Given the description of an element on the screen output the (x, y) to click on. 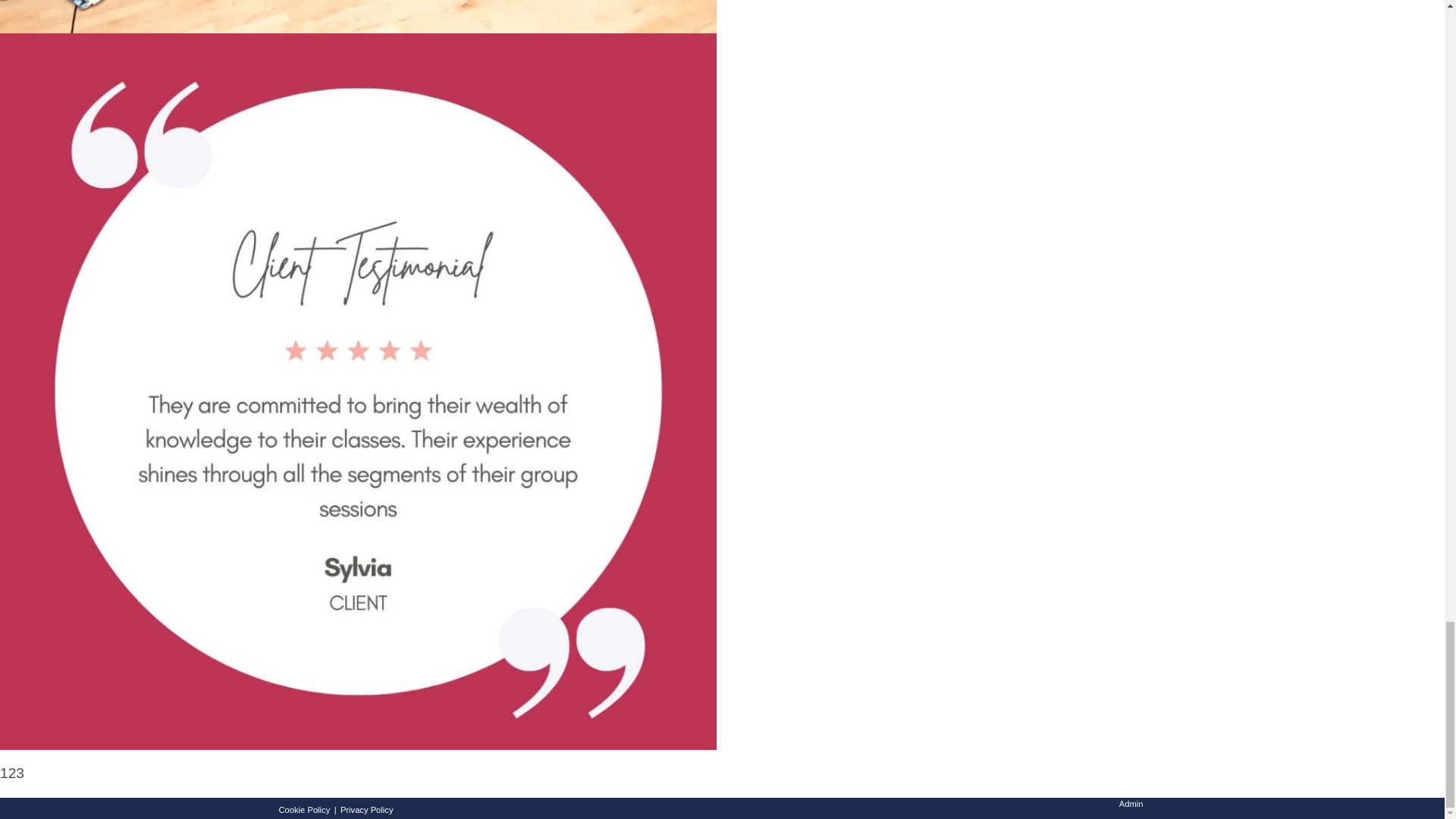
Cookie Policy (304, 809)
Admin (1130, 803)
Privacy Policy (366, 809)
